Given the description of an element on the screen output the (x, y) to click on. 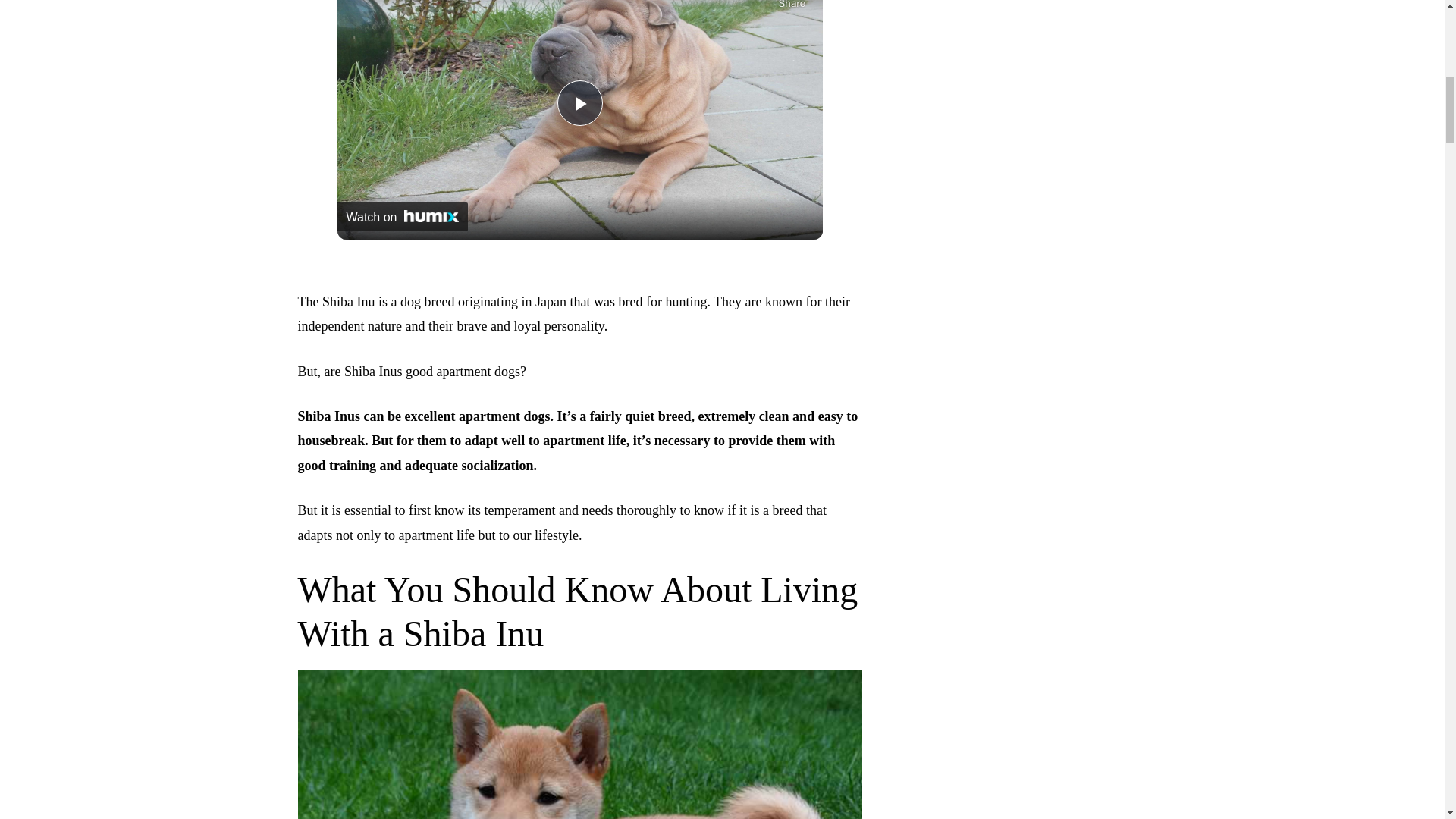
share (791, 6)
Share (791, 6)
Watch on (401, 216)
Play Video (579, 103)
Play Video (579, 103)
